Given the description of an element on the screen output the (x, y) to click on. 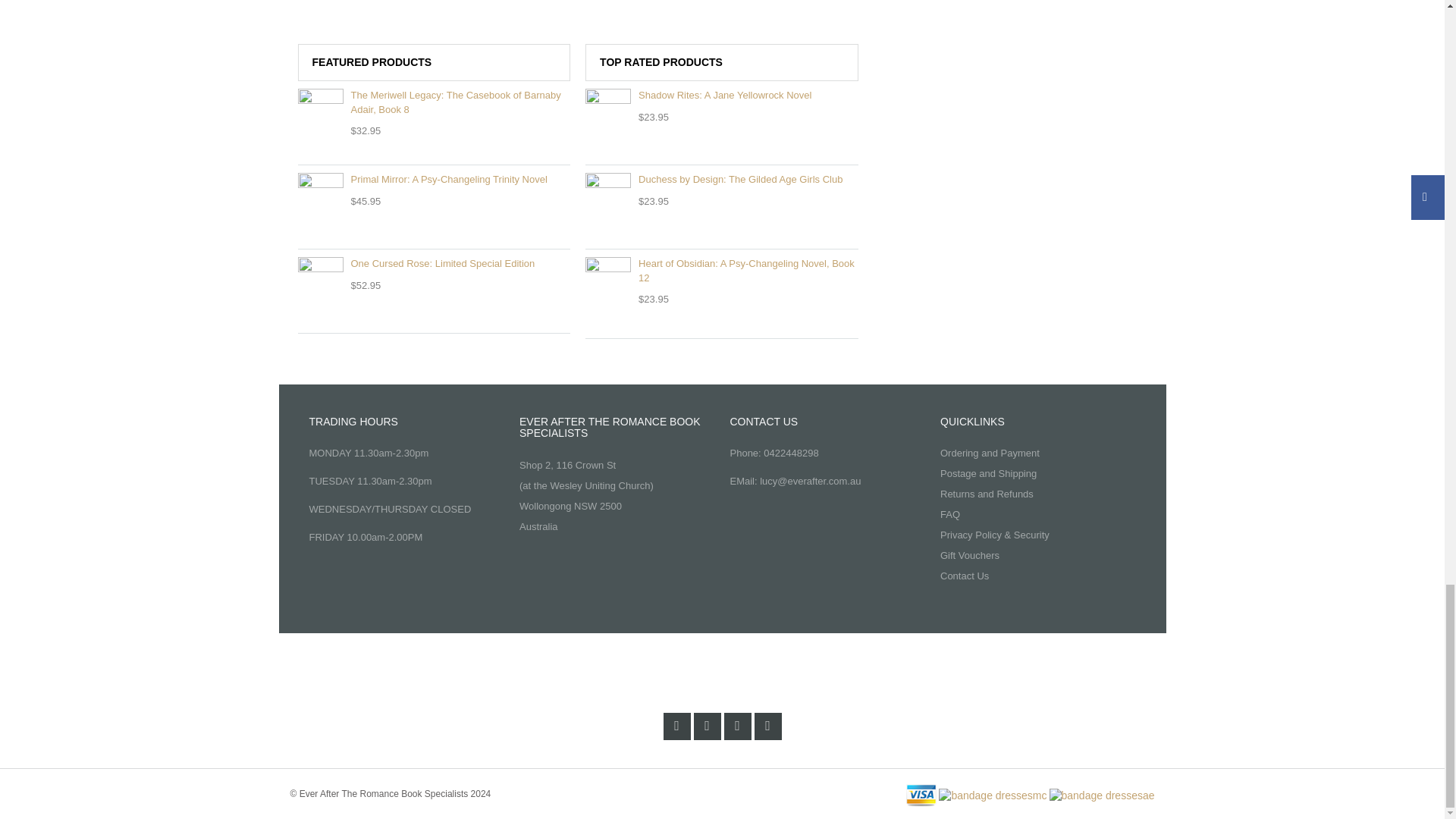
The Meriwell Legacy: The Casebook of Barnaby Adair, Book 8 (433, 102)
Shadow Rites: A Jane Yellowrock Novel (722, 95)
Duchess by Design: The Gilded Age Girls Club (722, 179)
Heart of Obsidian: A Psy-Changeling Novel, Book 12 (722, 271)
Primal Mirror: A Psy-Changeling Trinity Novel (433, 179)
One Cursed Rose: Limited Special Edition (433, 264)
